Given the description of an element on the screen output the (x, y) to click on. 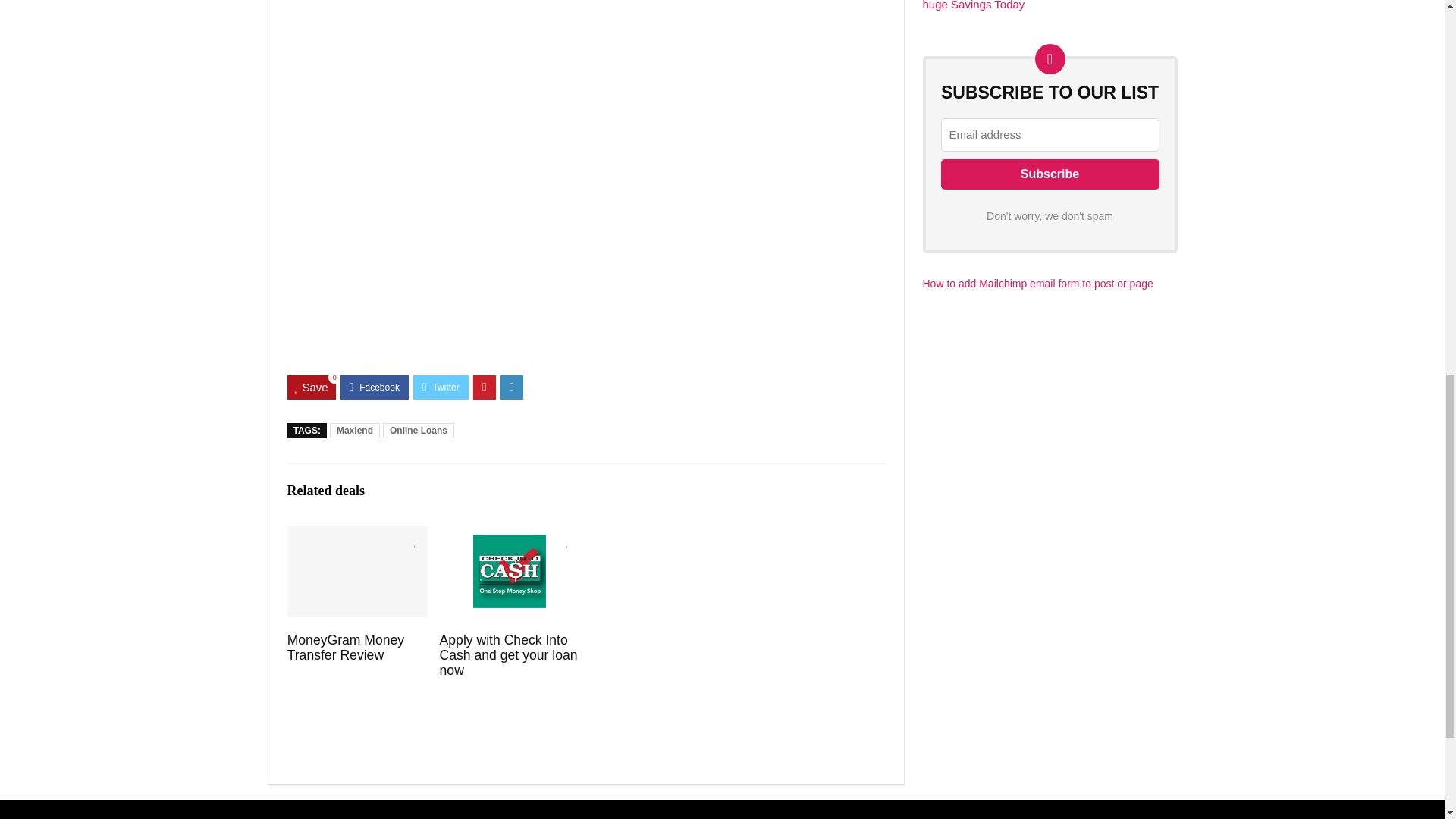
MoneyGram Money Transfer Review (345, 647)
Online Loans (418, 430)
Maxlend (355, 430)
Subscribe (1049, 173)
Apply with Check Into Cash and get your loan now (508, 655)
How to add Mailchimp email form to post or page (1037, 283)
Subscribe (1049, 173)
